Given the description of an element on the screen output the (x, y) to click on. 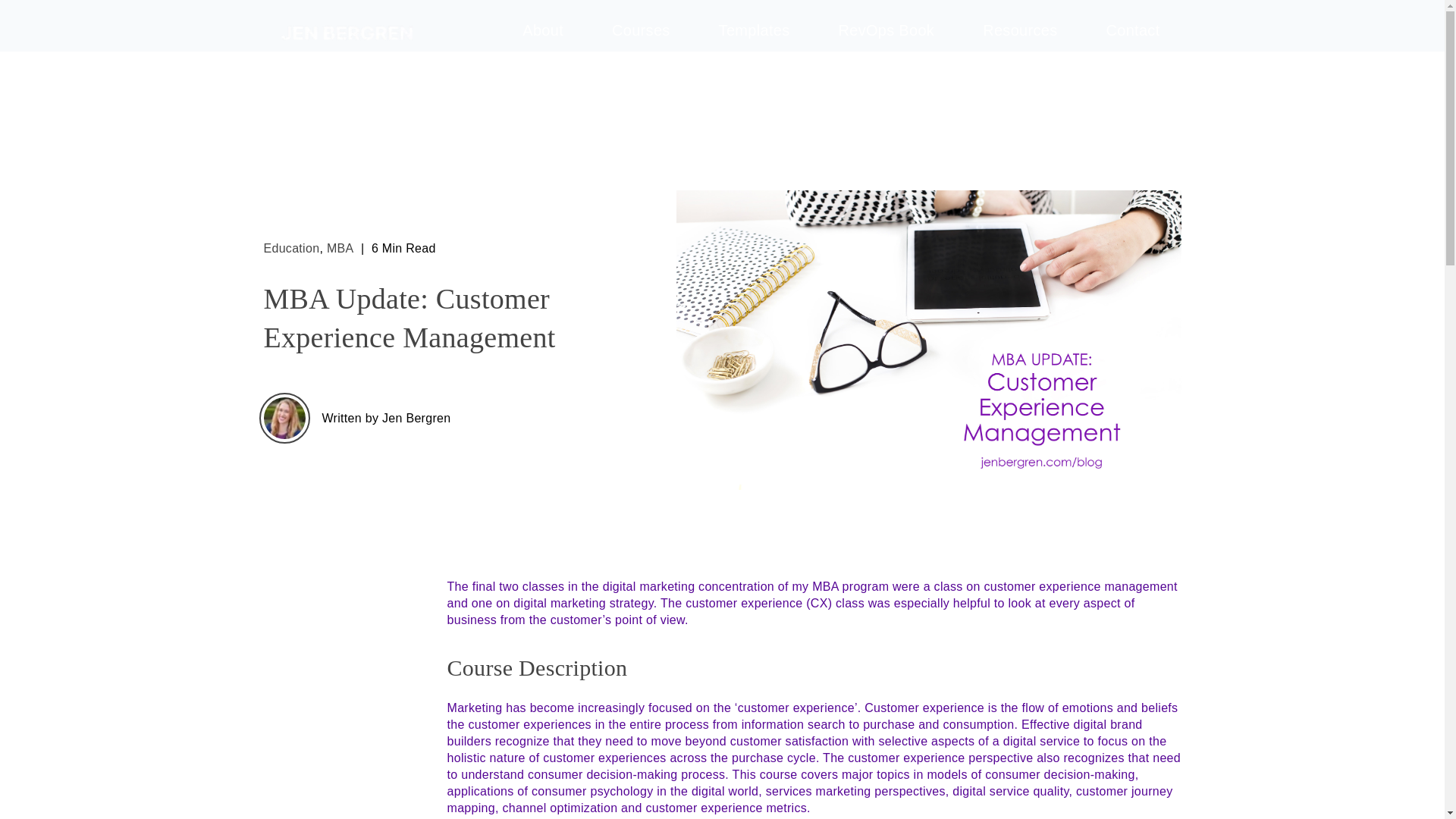
Courses (641, 30)
About (542, 30)
MBA (339, 247)
Written by Jen Bergren (385, 417)
Templates (753, 30)
Education (291, 247)
Contact (1132, 30)
Resources (1019, 30)
RevOps Book (885, 30)
